Given the description of an element on the screen output the (x, y) to click on. 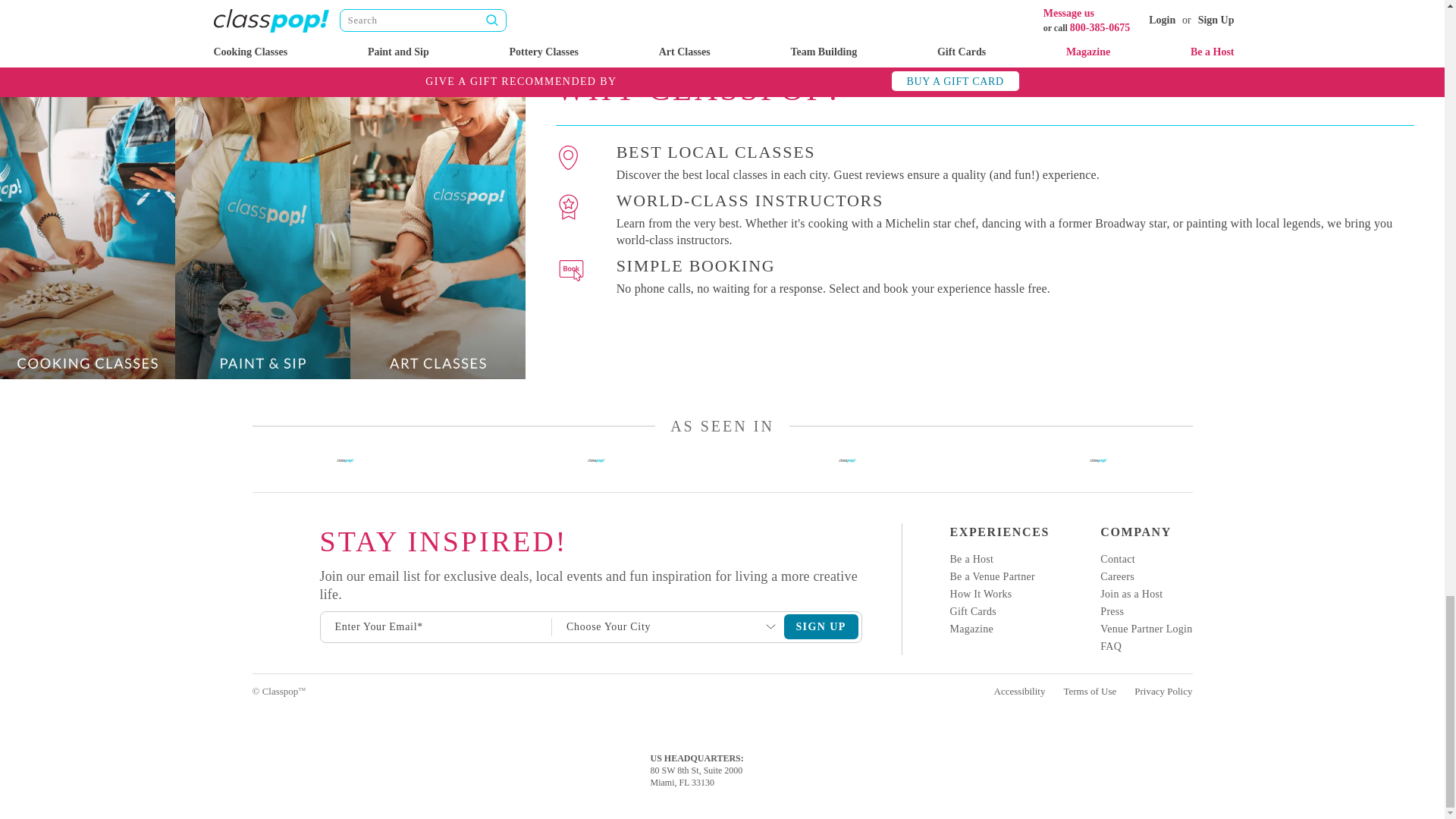
Instagram (253, 537)
Yelp (253, 588)
Twitter (253, 615)
Pinterest (253, 640)
Facebook (253, 563)
